Given the description of an element on the screen output the (x, y) to click on. 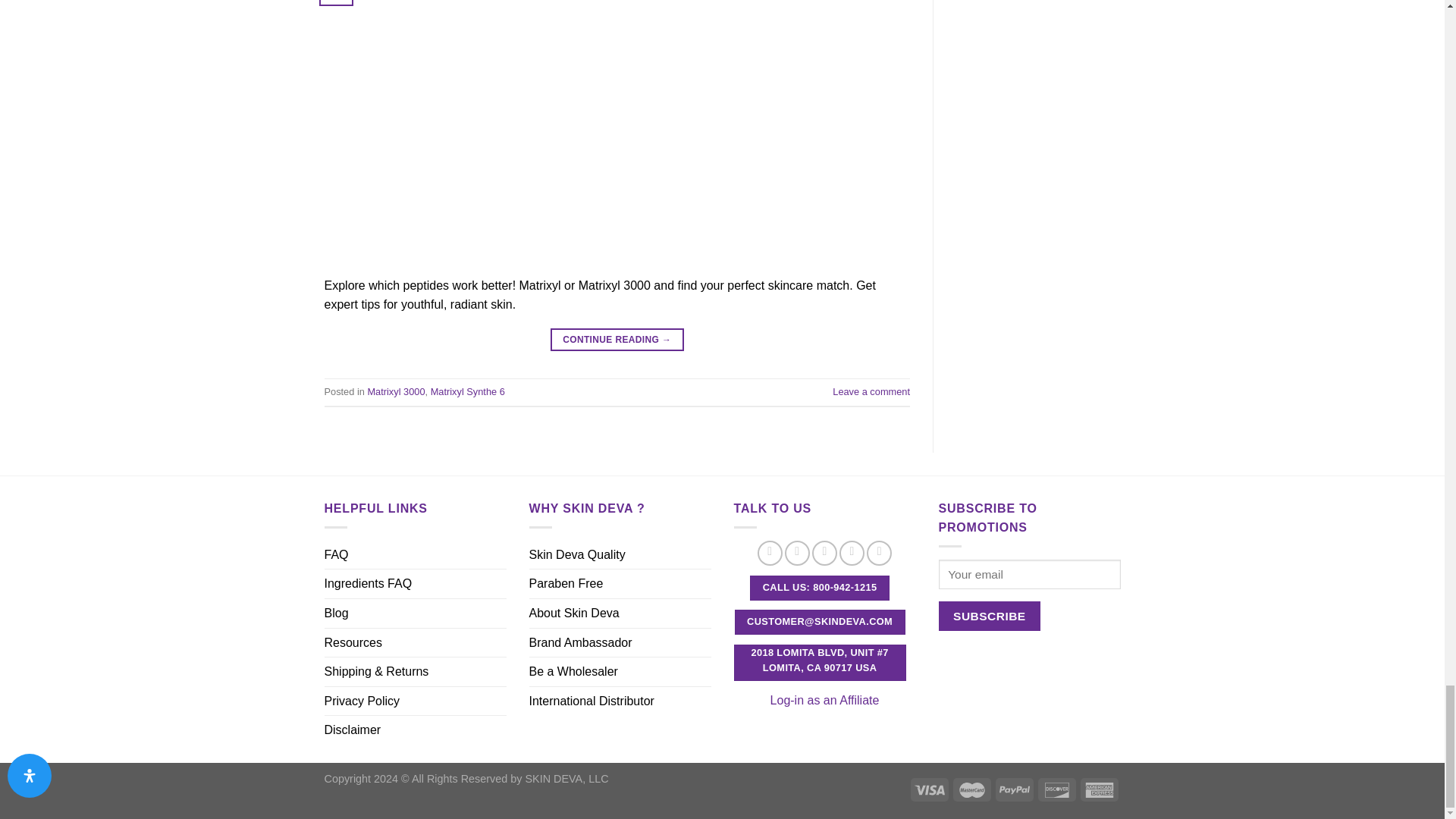
Follow on Pinterest (878, 552)
Follow on Facebook (770, 552)
Follow on TikTok (824, 552)
Follow on Twitter (852, 552)
Follow on Instagram (796, 552)
